Given the description of an element on the screen output the (x, y) to click on. 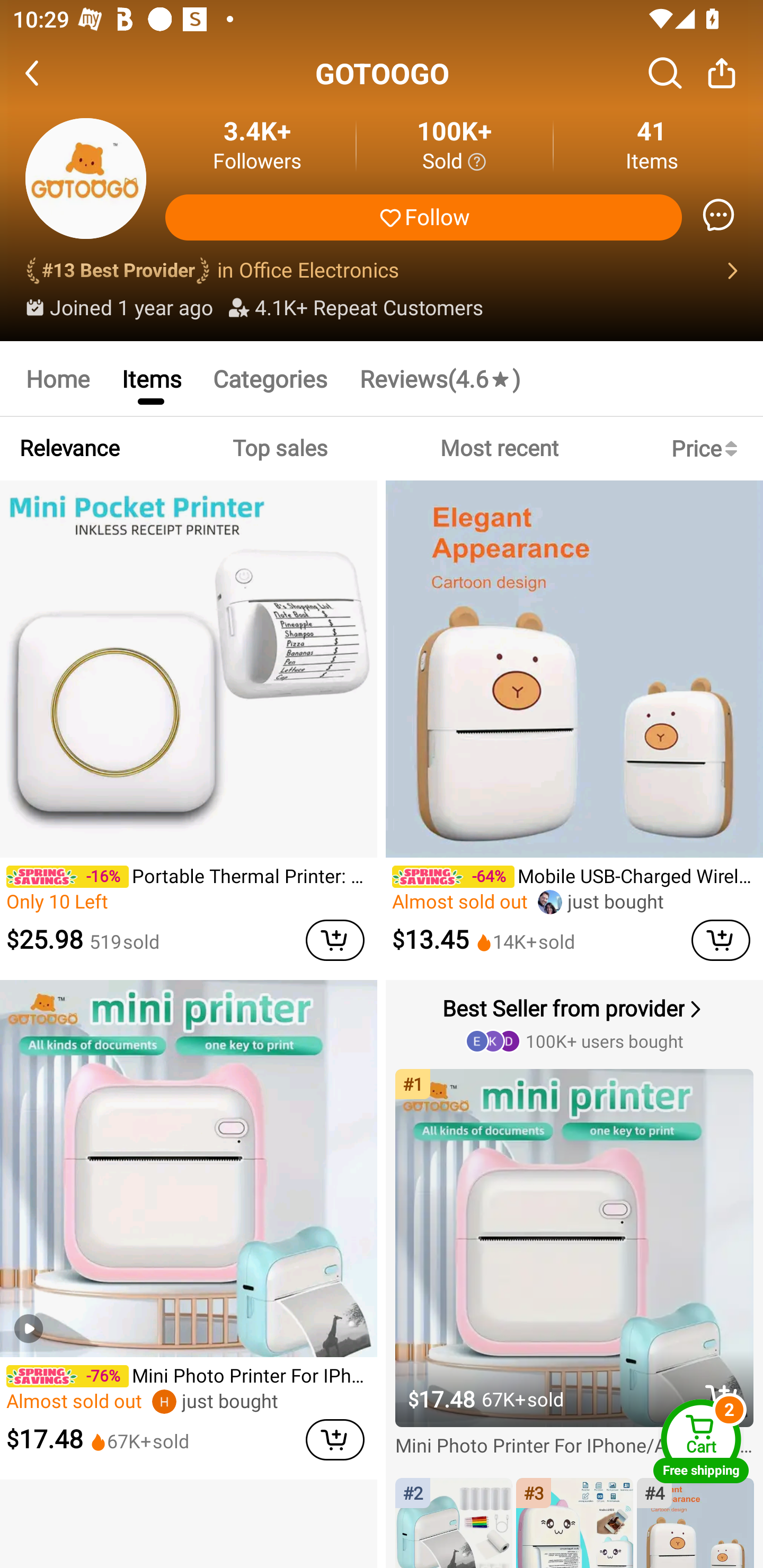
back (47, 72)
share (721, 72)
Sold (453, 161)
#13 Best Provider in Office Electronics (381, 271)
Home (57, 378)
Items (150, 378)
Categories (269, 378)
Reviews(4.6 ) (439, 378)
Relevance (69, 448)
Top sales (279, 448)
Most recent (498, 448)
Price (707, 448)
cart delete (334, 939)
cart delete (720, 939)
Best Seller from provider 100K+ users bought (576, 1022)
Cart Free shipping Cart (701, 1440)
cart delete (334, 1439)
#2 (453, 1523)
#3 (574, 1523)
#4 (695, 1523)
